Given the description of an element on the screen output the (x, y) to click on. 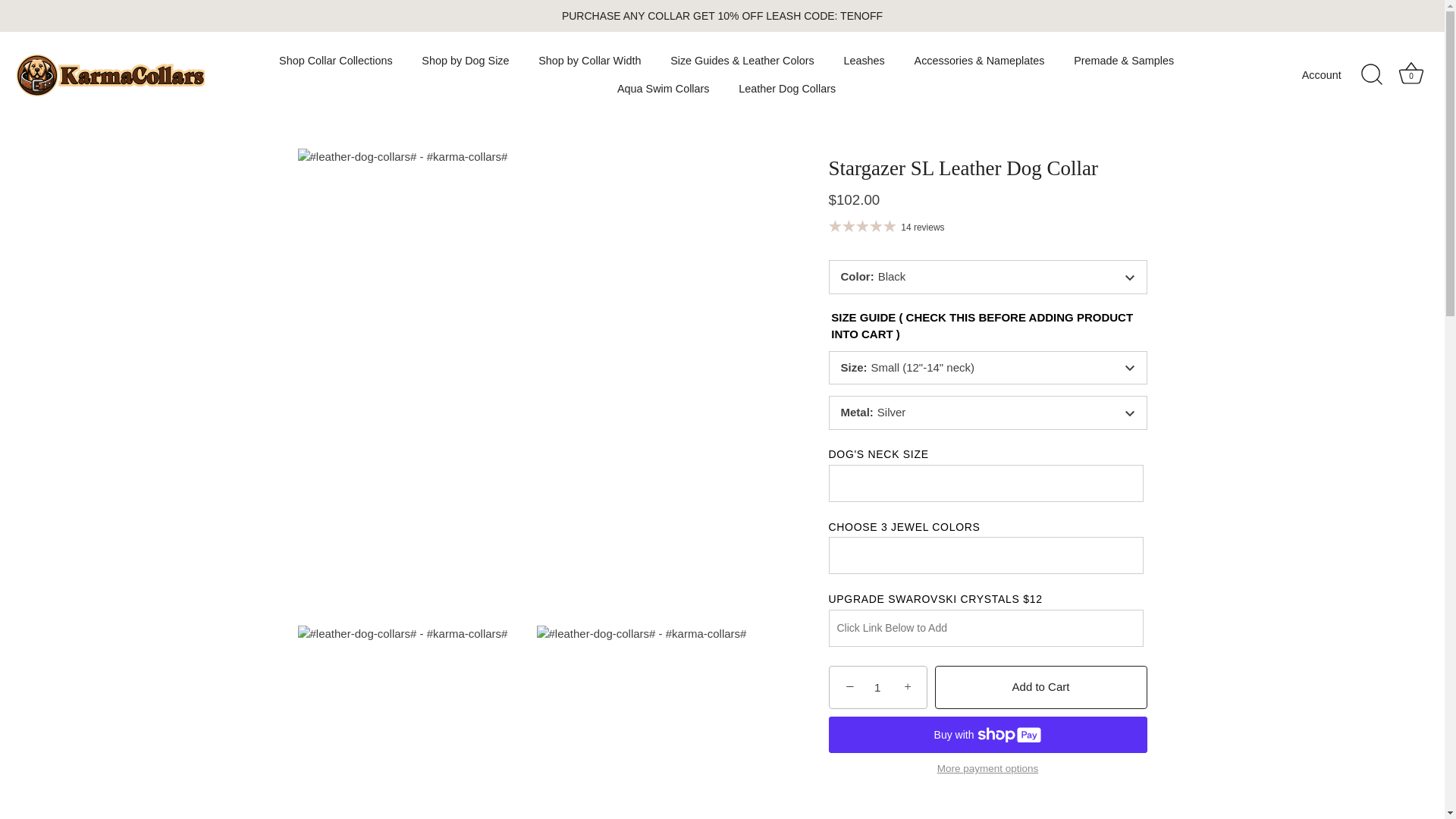
Shop by Collar Width (589, 60)
Shop Collar Collections (336, 60)
Basket (1410, 72)
Shop by Dog Size (465, 60)
